Given the description of an element on the screen output the (x, y) to click on. 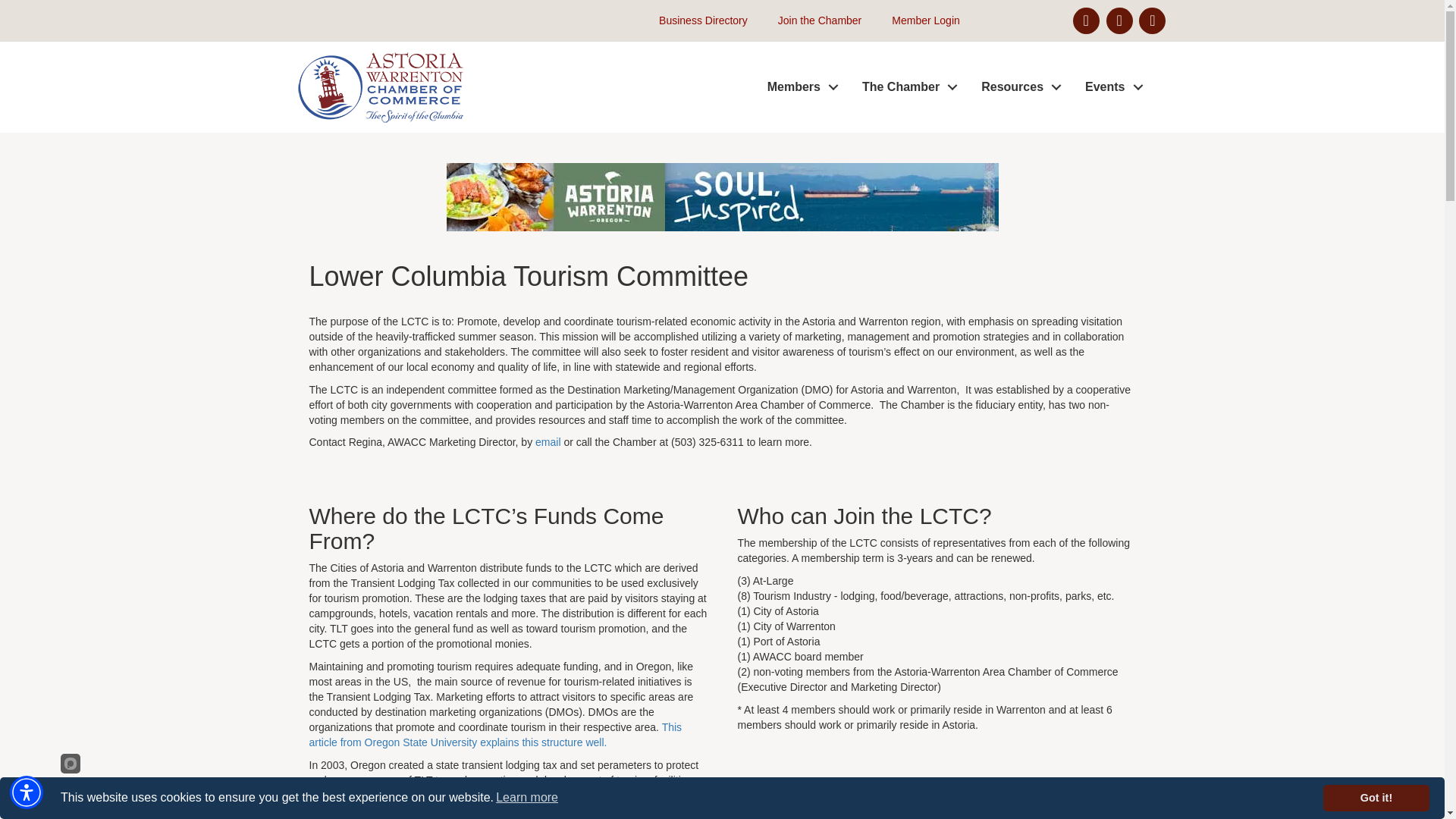
The Chamber (906, 87)
astoria-warrenton-chamber-logo-md (379, 87)
Members (798, 87)
Events (1110, 87)
Resources (1017, 87)
Join the Chamber (811, 20)
Member Login (917, 20)
Business Directory (695, 20)
Accessibility Menu (26, 792)
